Given the description of an element on the screen output the (x, y) to click on. 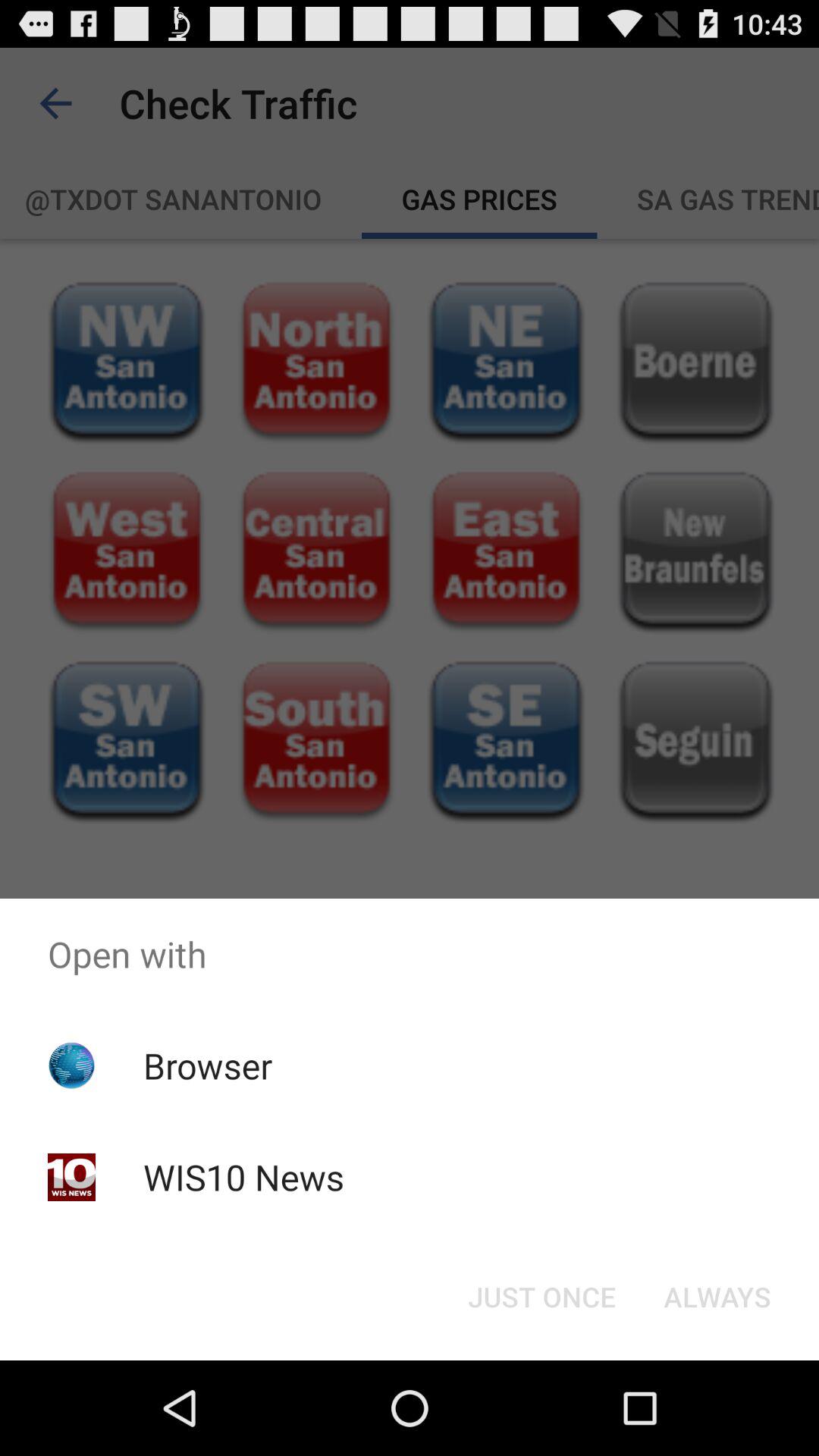
choose browser item (207, 1065)
